Given the description of an element on the screen output the (x, y) to click on. 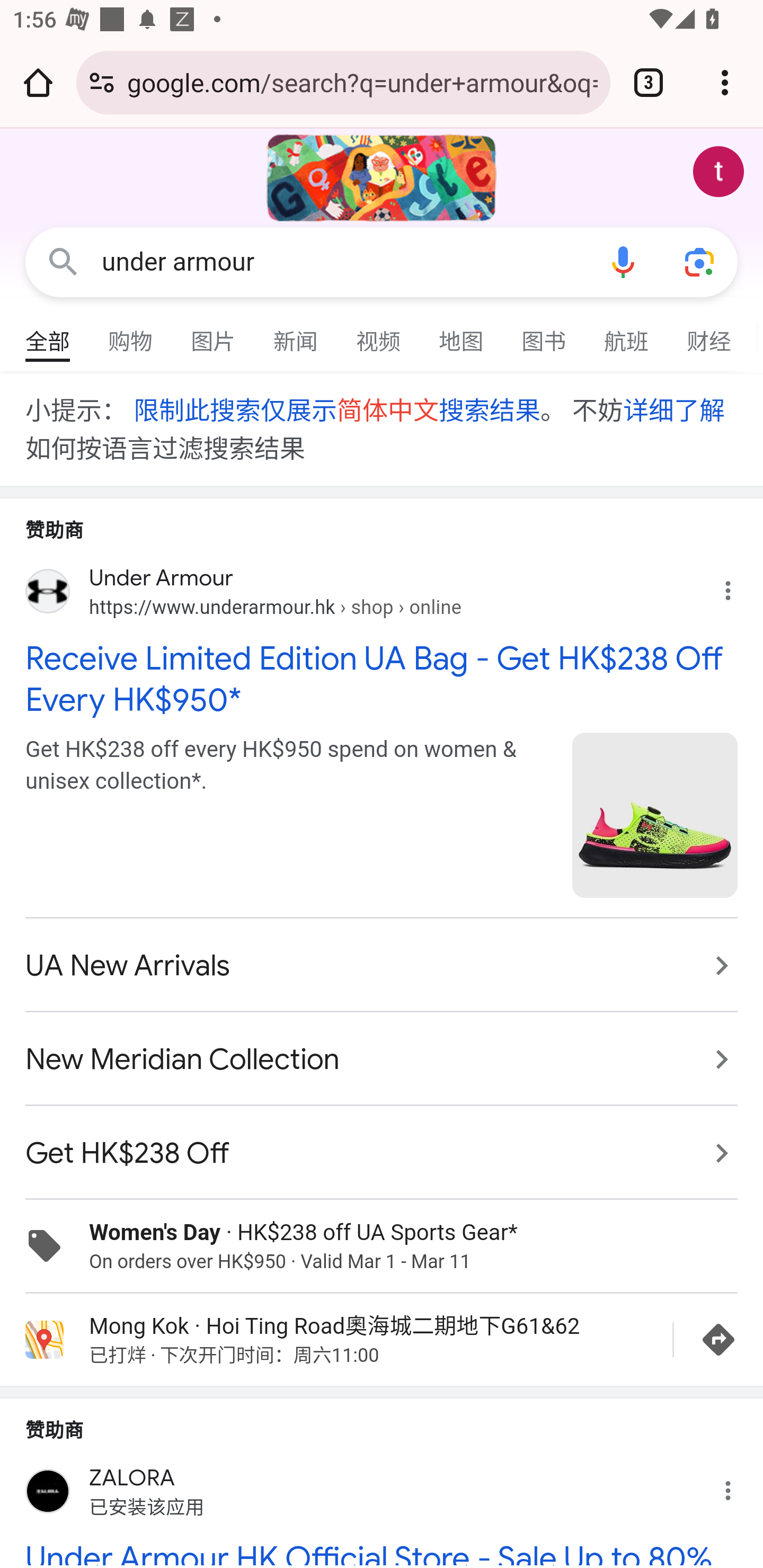
Open the home page (38, 82)
Connection is secure (101, 82)
Switch or close tabs (648, 82)
Customize and control Google Chrome (724, 82)
2024 年国际妇女节 (381, 177)
Google 账号： test appium (testappium002@gmail.com) (718, 171)
Google 搜索 (63, 262)
使用拍照功能或照片进行搜索 (699, 262)
under armour (343, 261)
购物 (131, 333)
图片 (213, 333)
新闻 (296, 333)
视频 (379, 333)
地图 (461, 333)
图书 (544, 333)
航班 (627, 333)
财经 (709, 333)
限制此搜索仅展示简体中文搜索结果 限制此搜索仅展示 简体中文 搜索结果 (335, 409)
详细了解 (672, 409)
为什么会显示该广告？ (738, 586)
图片来自 underarmour.hk (654, 814)
UA New Arrivals (381, 965)
New Meridian Collection (381, 1058)
Get HK$238 Off (381, 1142)
为什么会显示该广告？ (738, 1485)
